Given the description of an element on the screen output the (x, y) to click on. 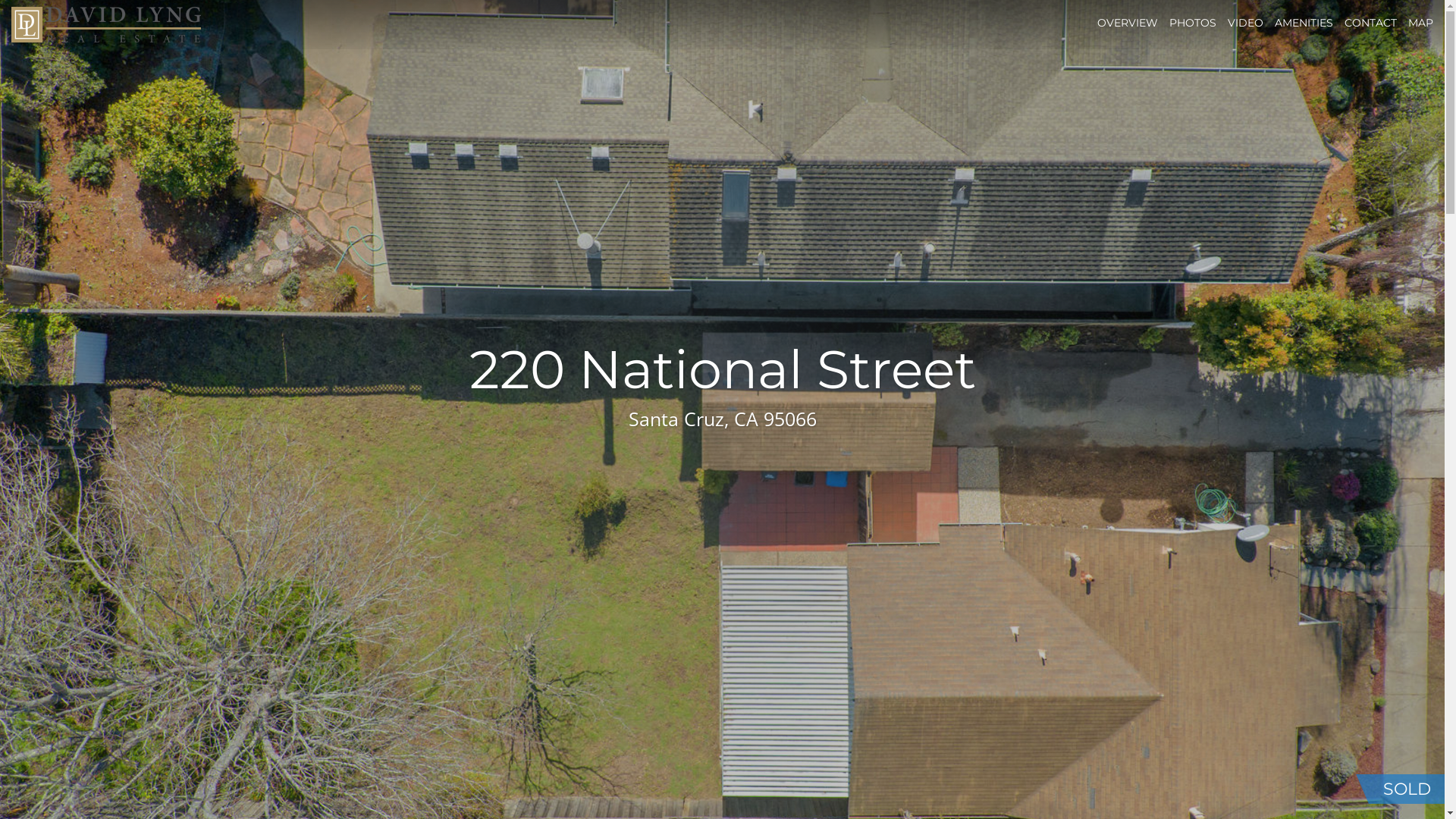
MAP Element type: text (1420, 22)
PHOTOS Element type: text (1192, 22)
CONTACT Element type: text (1370, 22)
VIDEO Element type: text (1245, 22)
AMENITIES Element type: text (1303, 22)
OVERVIEW Element type: text (1127, 22)
